Given the description of an element on the screen output the (x, y) to click on. 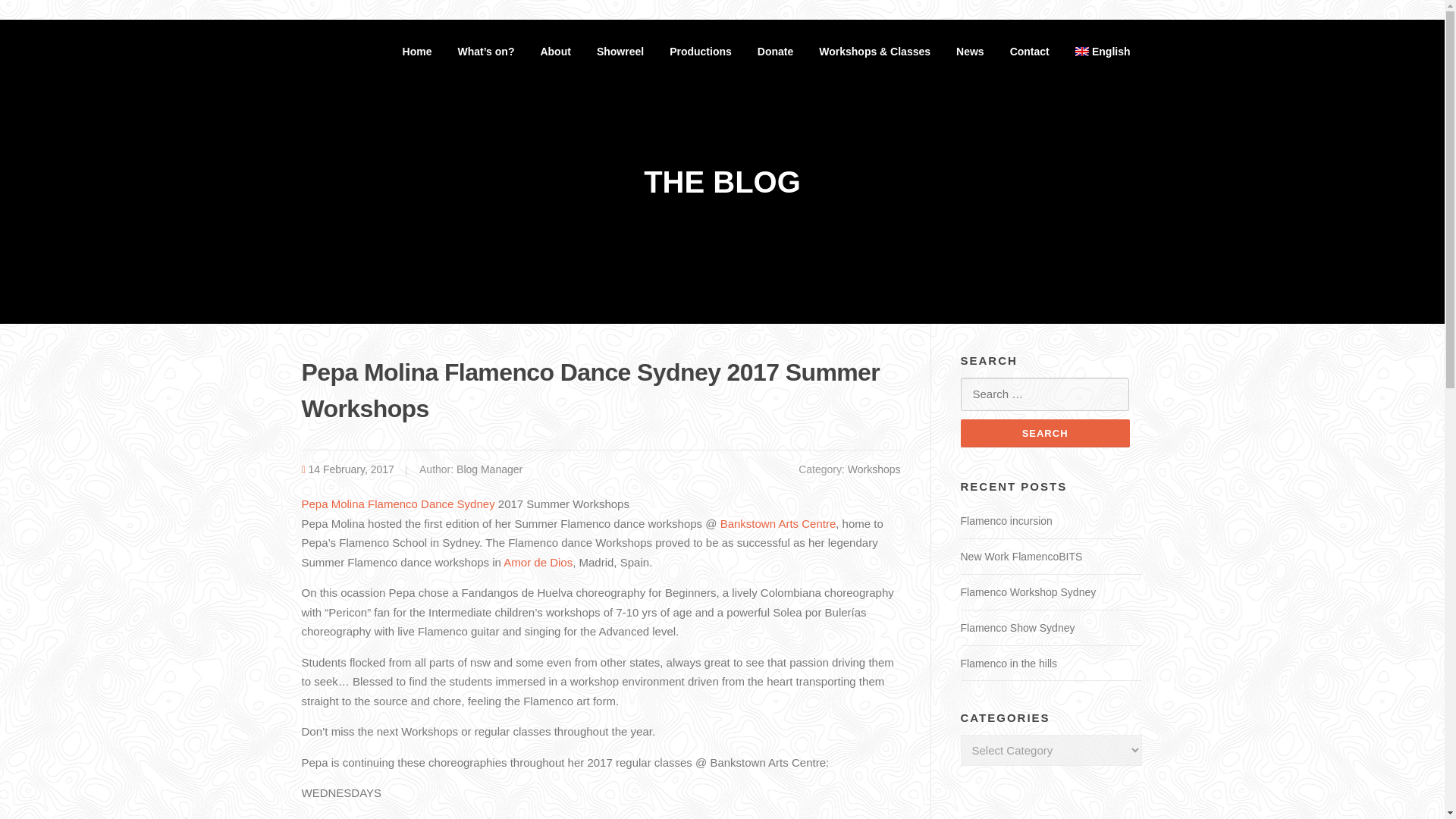
Donate (775, 51)
Productions (700, 51)
Amor de Dios (537, 562)
Workshops (874, 469)
Bankstown Arts Centre (776, 522)
14 February, 2017 (351, 469)
Search (1044, 433)
Blog Manager (489, 469)
Showreel (619, 51)
English (1102, 51)
English (1102, 51)
Pepa Molina Flamenco Dance Sydney (398, 503)
Search (1044, 433)
Contact (1029, 51)
